Given the description of an element on the screen output the (x, y) to click on. 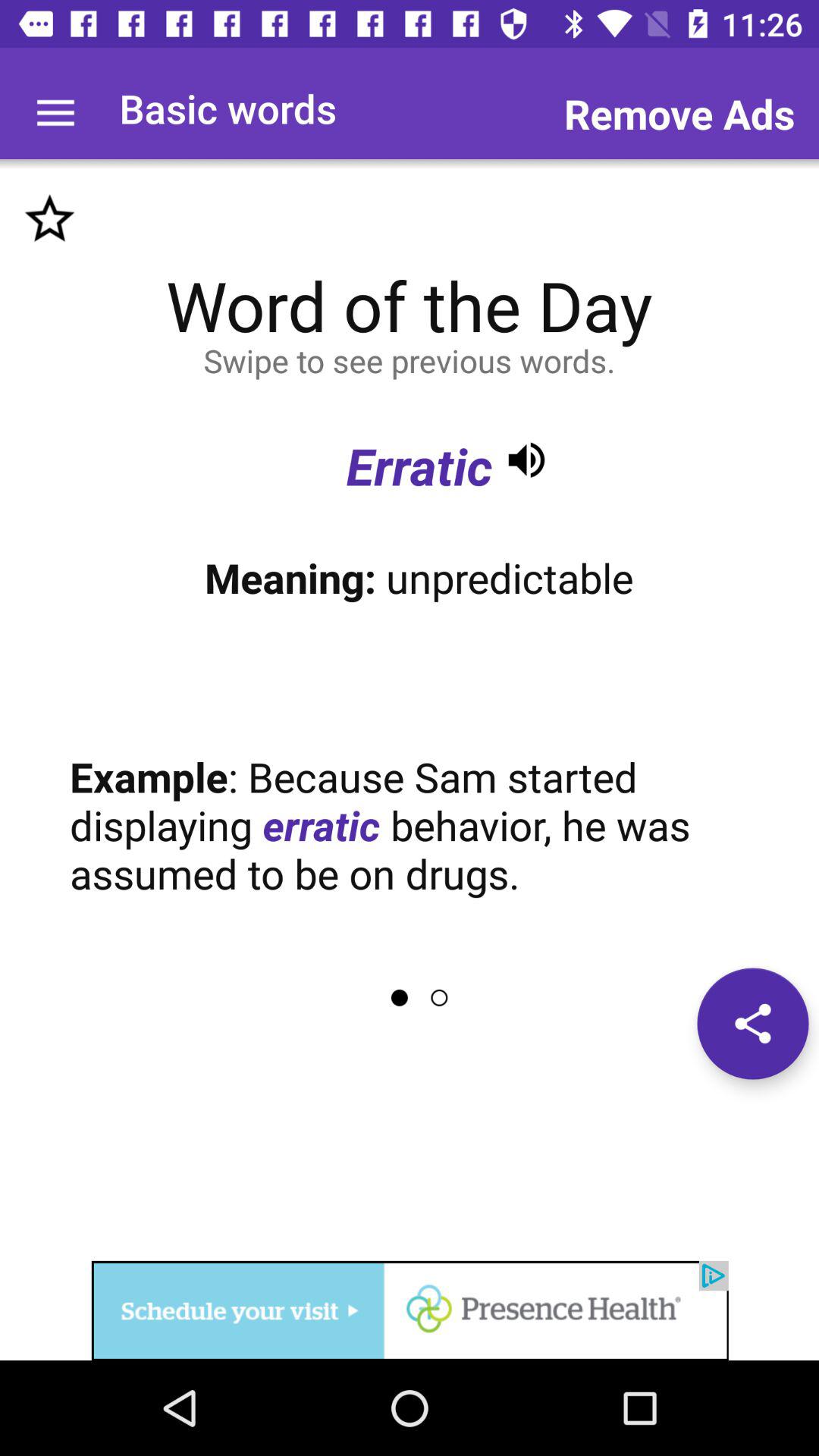
favorite (49, 219)
